Given the description of an element on the screen output the (x, y) to click on. 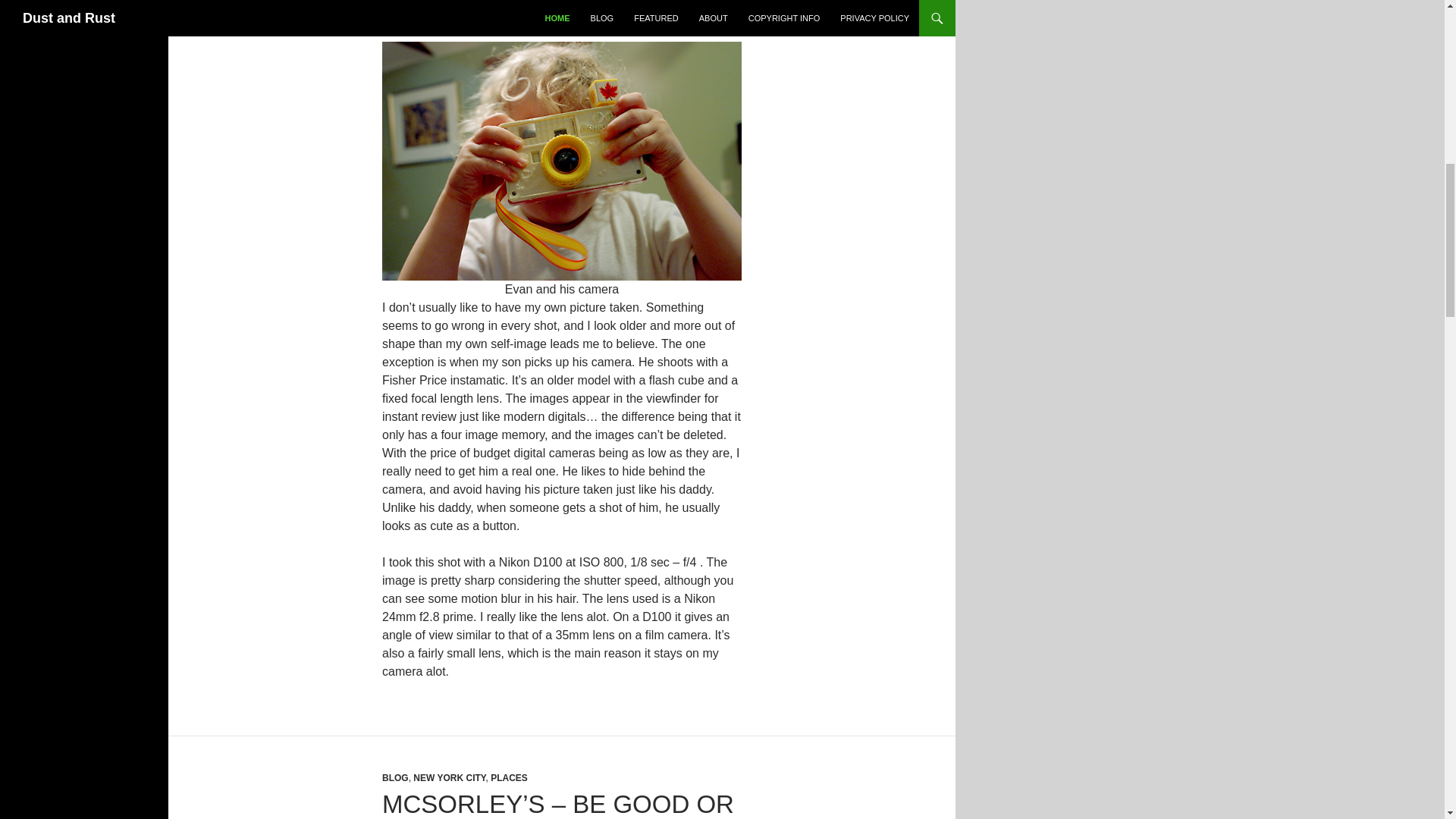
PLACES (508, 777)
1 COMMENT (529, 9)
NOVEMBER 29, 2005 (432, 9)
NEW YORK CITY (448, 777)
BLOG (395, 777)
Evan and his camera (561, 160)
